Given the description of an element on the screen output the (x, y) to click on. 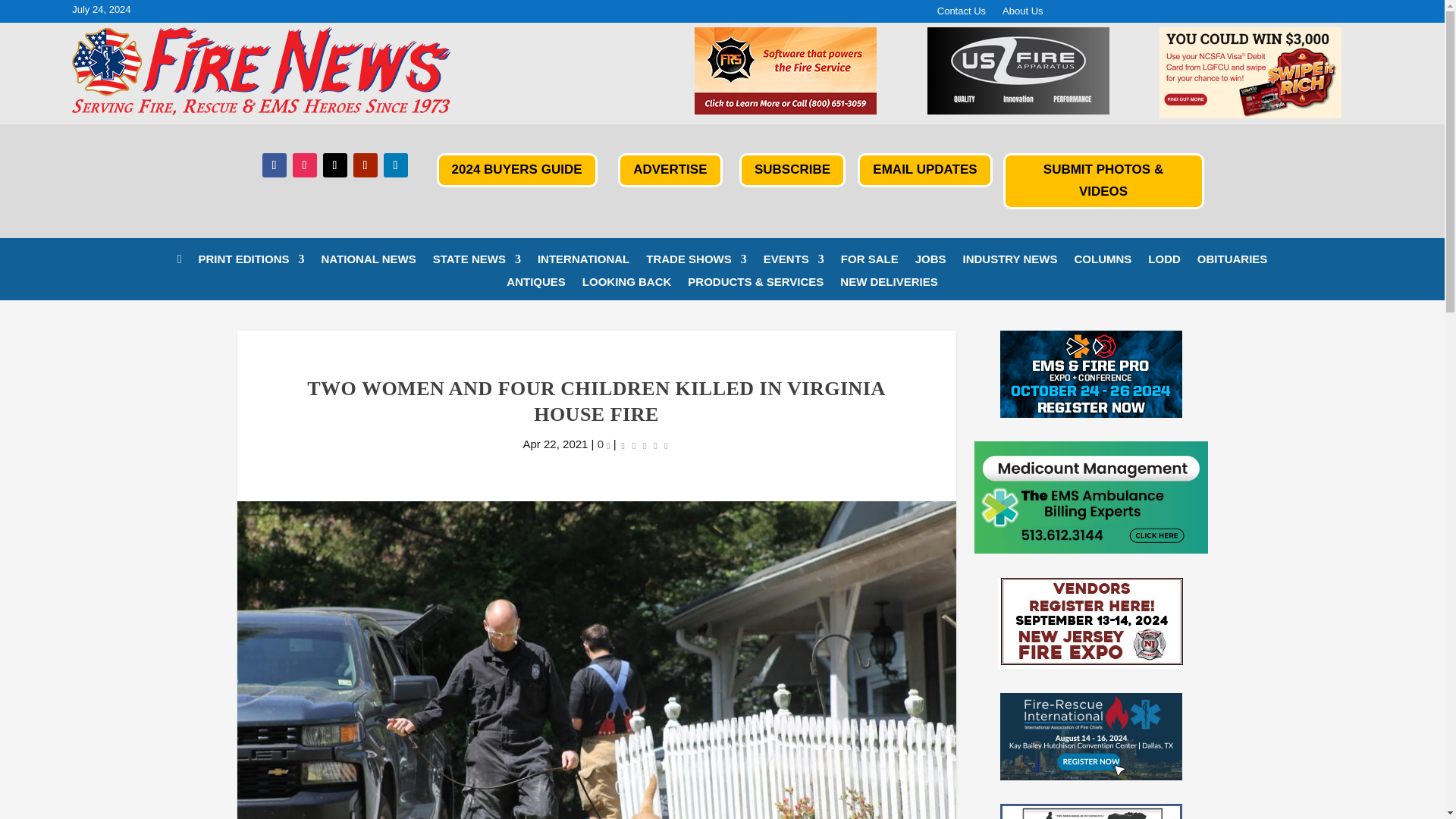
Follow on Facebook (274, 165)
EMAIL UPDATES (924, 170)
Follow on Instagram (304, 165)
2024 BUYERS GUIDE (516, 170)
Follow on X (335, 165)
Rating: 0.00 (644, 444)
About Us (1022, 13)
PRINT EDITIONS (251, 262)
SUBSCRIBE (792, 170)
Contact Us (961, 13)
ADVERTISE (669, 170)
Follow on Youtube (365, 165)
Follow on LinkedIn (395, 165)
